Given the description of an element on the screen output the (x, y) to click on. 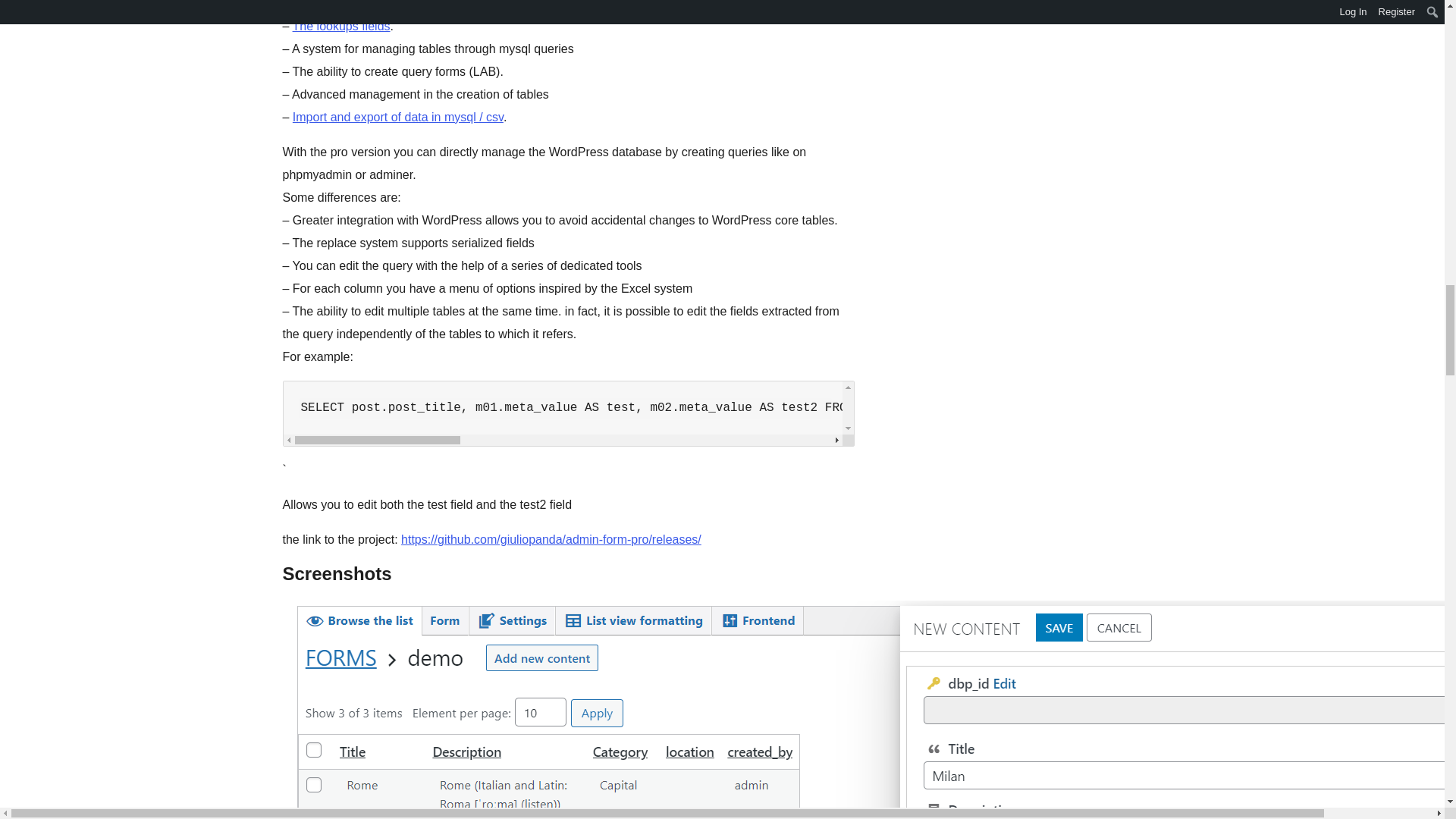
The calculated fields (347, 4)
The lookups fields (341, 25)
